Given the description of an element on the screen output the (x, y) to click on. 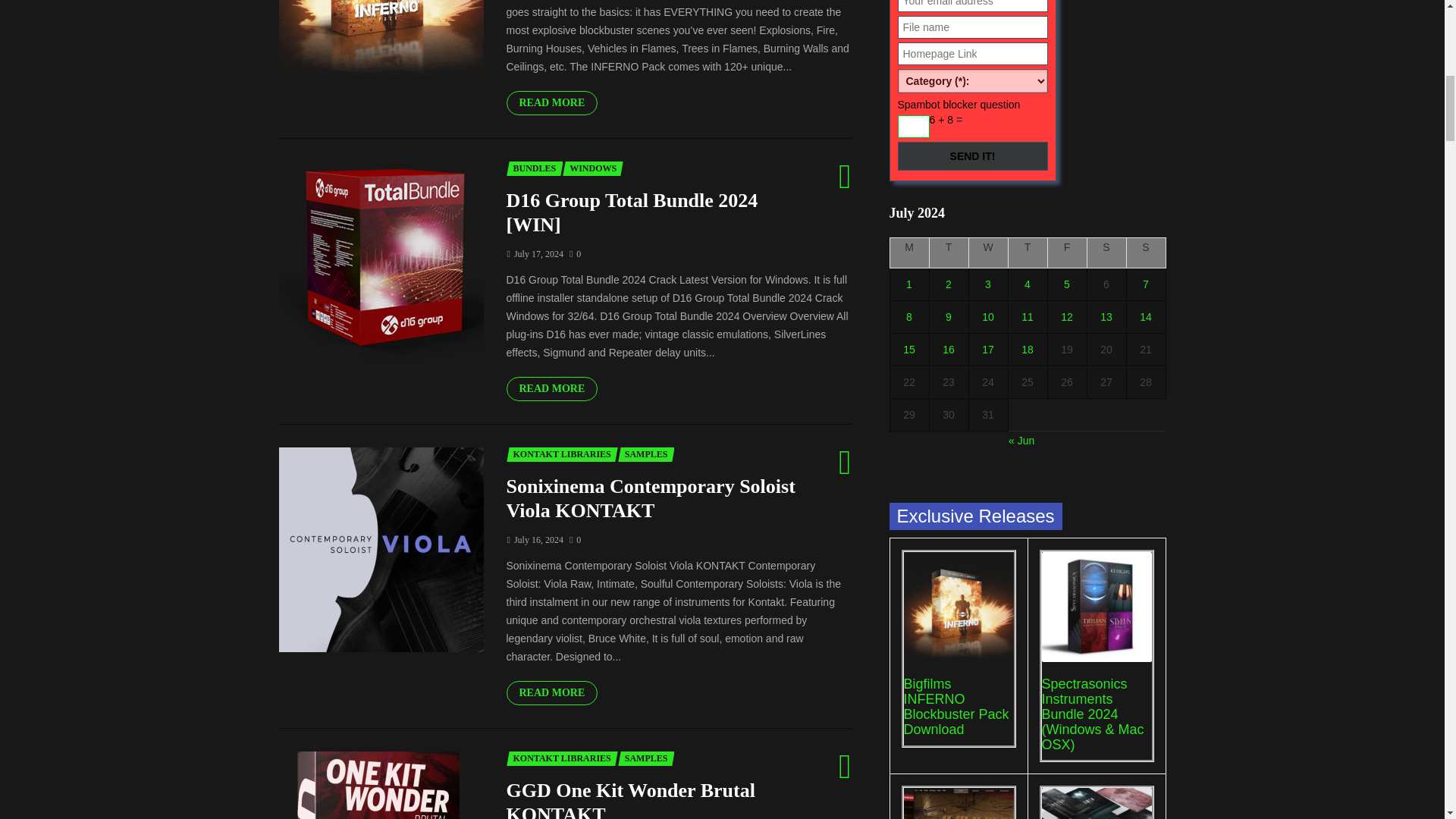
Send it! (973, 155)
